Given the description of an element on the screen output the (x, y) to click on. 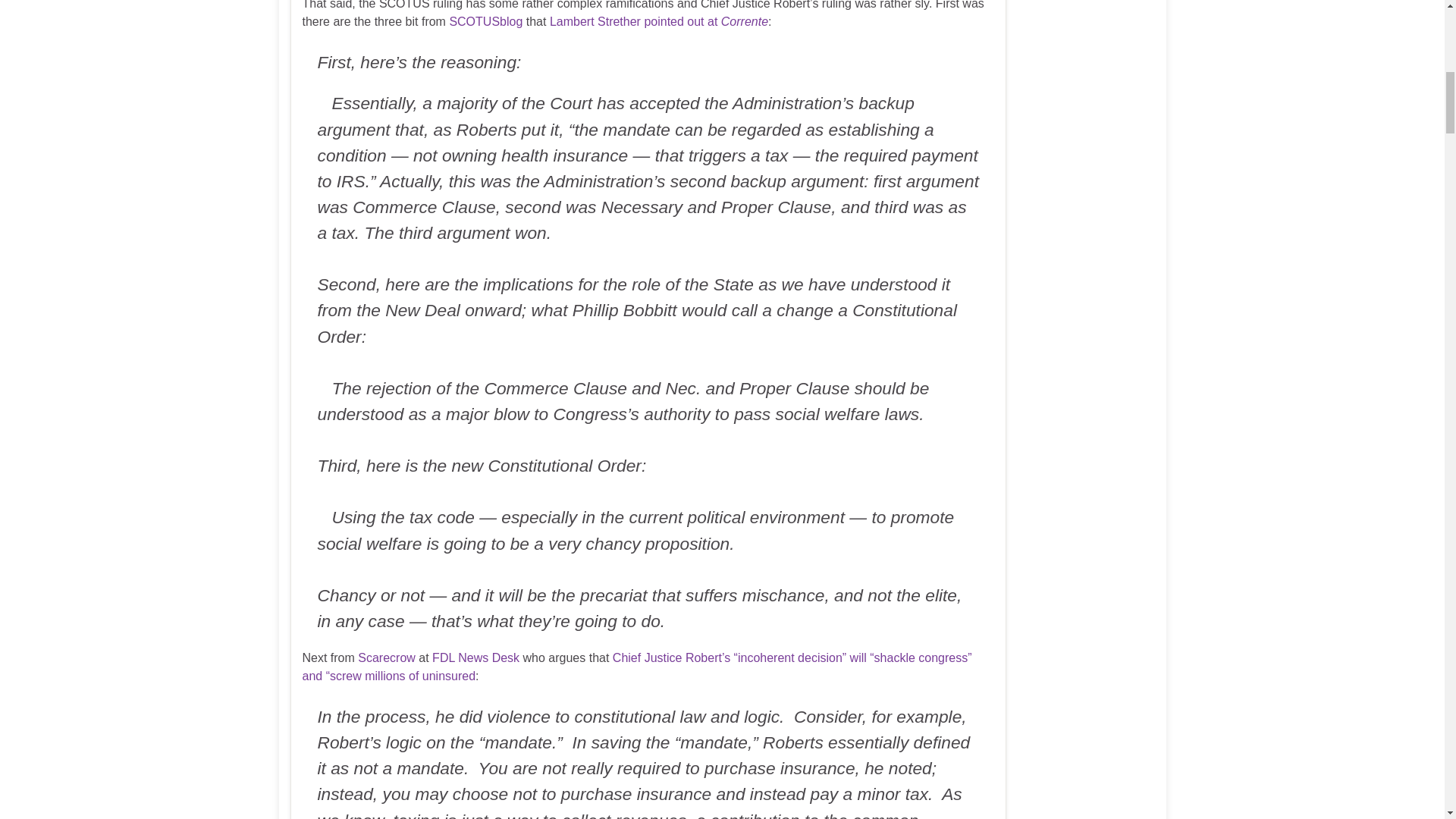
Lambert Strether pointed out at Corrente (659, 21)
FDL News Desk (475, 657)
SCOTUSblog (485, 21)
Scarecrow (386, 657)
